Given the description of an element on the screen output the (x, y) to click on. 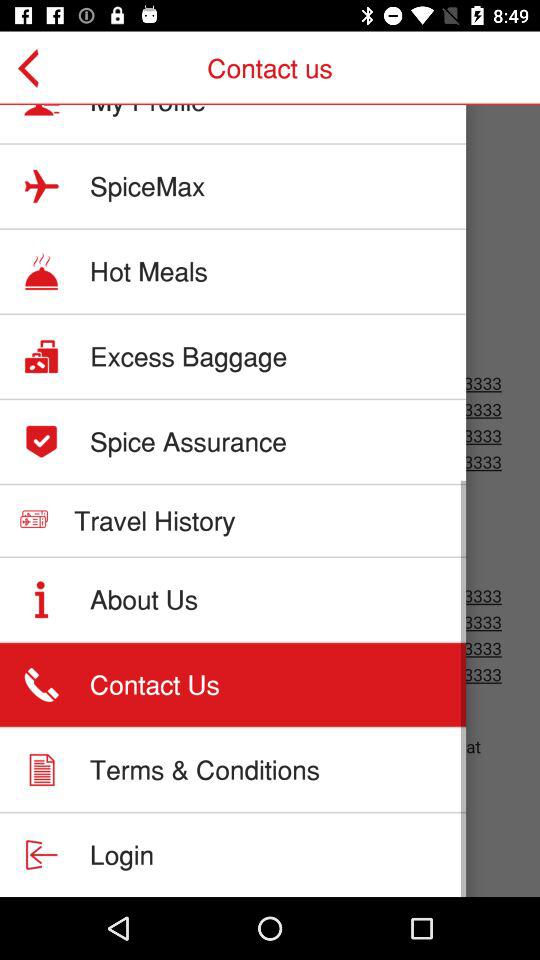
jump until the about us item (144, 599)
